Given the description of an element on the screen output the (x, y) to click on. 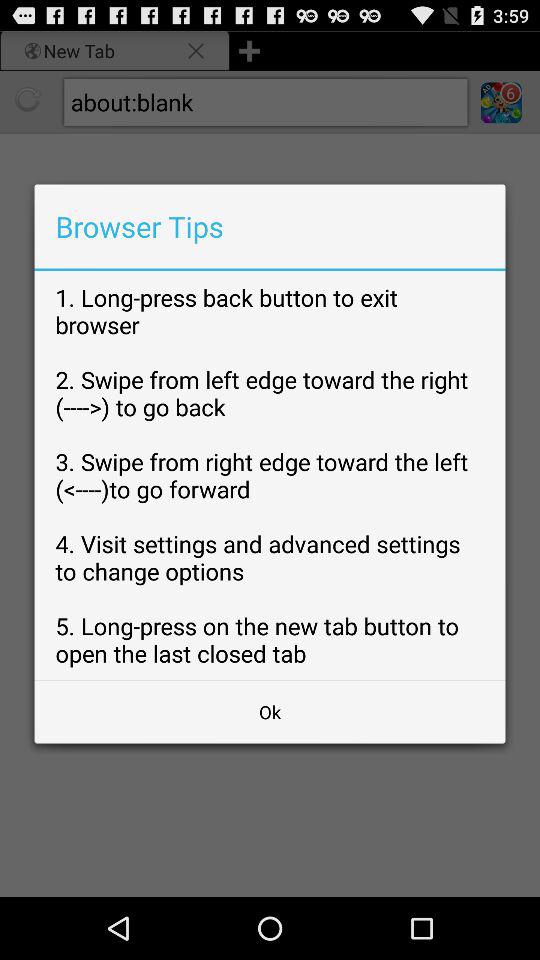
select the ok button (269, 711)
